Given the description of an element on the screen output the (x, y) to click on. 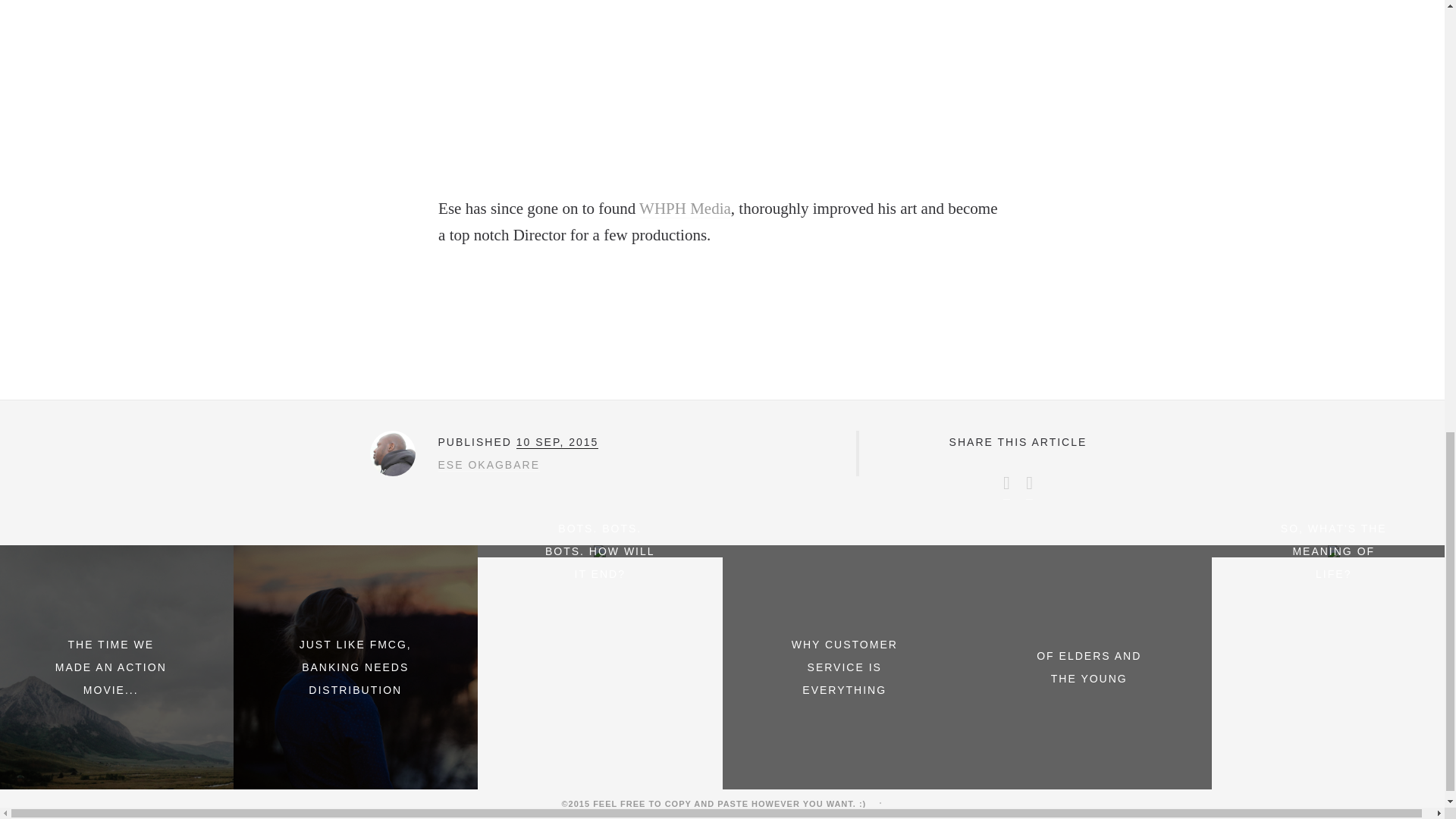
WHPH Media (684, 208)
ESE OKAGBARE (489, 464)
